Given the description of an element on the screen output the (x, y) to click on. 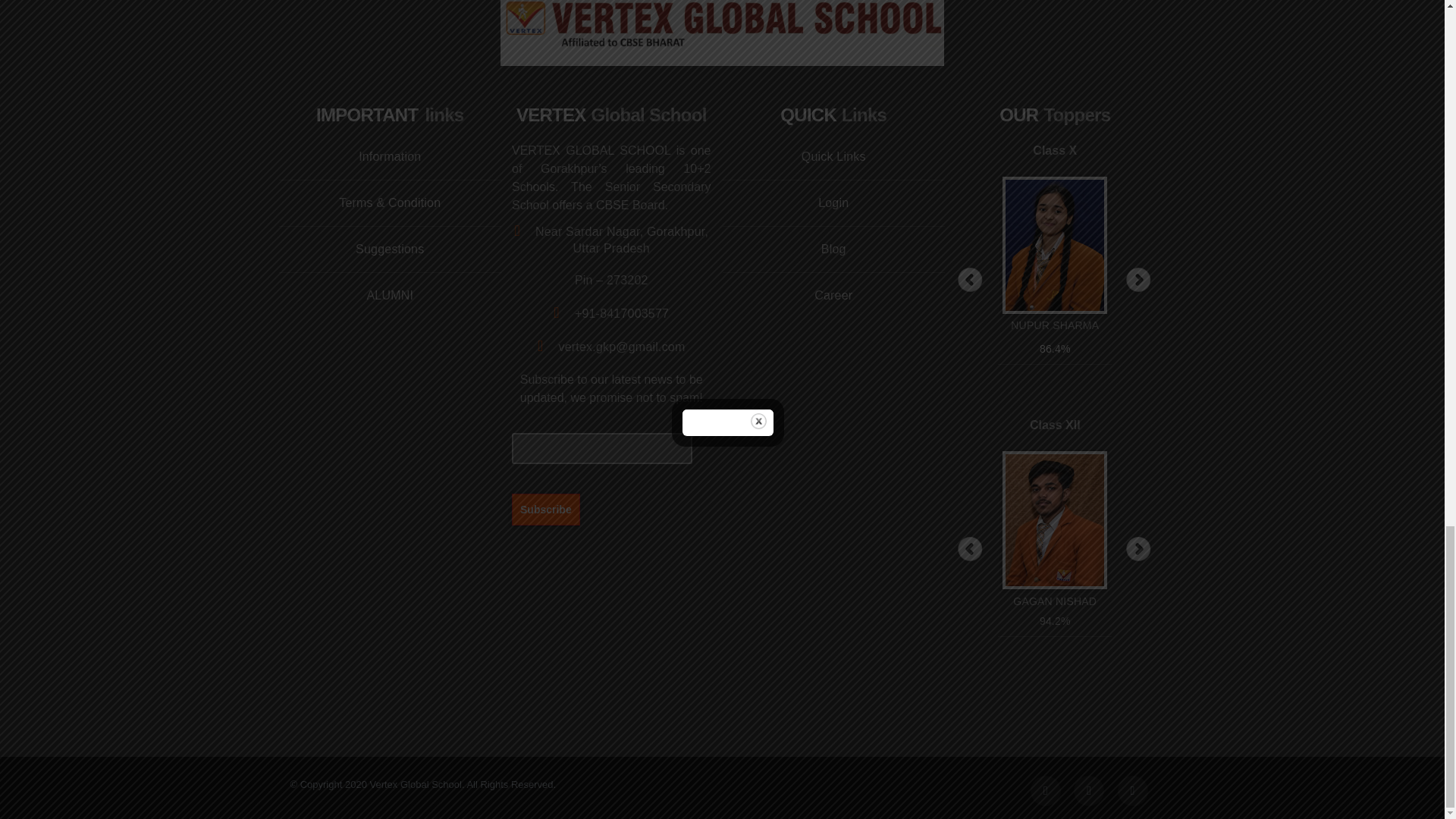
Subscribe (545, 508)
